Given the description of an element on the screen output the (x, y) to click on. 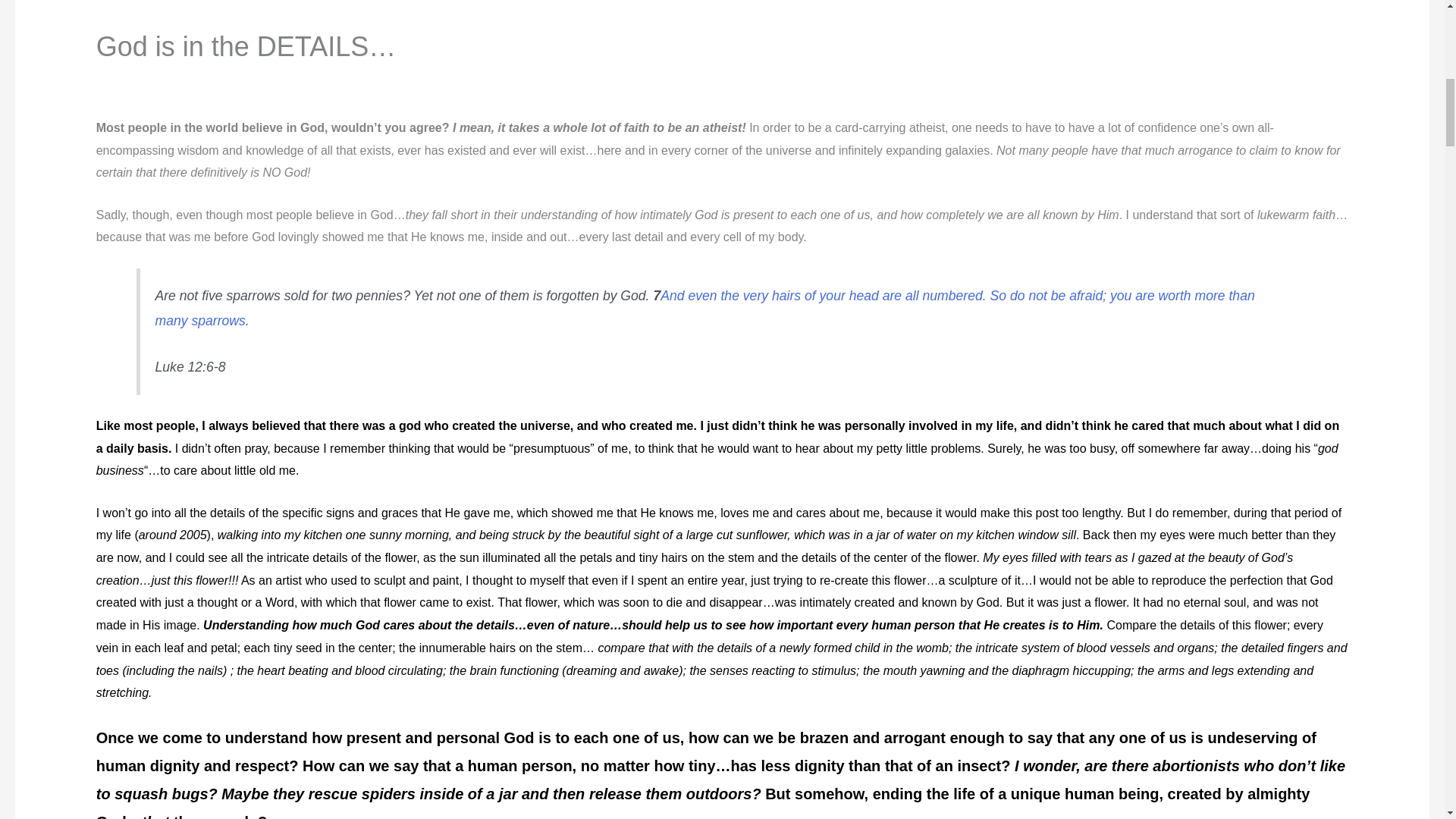
are all numbered. (934, 295)
than many (705, 308)
head (863, 295)
So do not be afraid; (1048, 295)
hairs (785, 295)
your (832, 295)
the (729, 295)
very (755, 295)
And even (688, 295)
you are worth more (1167, 295)
